Given the description of an element on the screen output the (x, y) to click on. 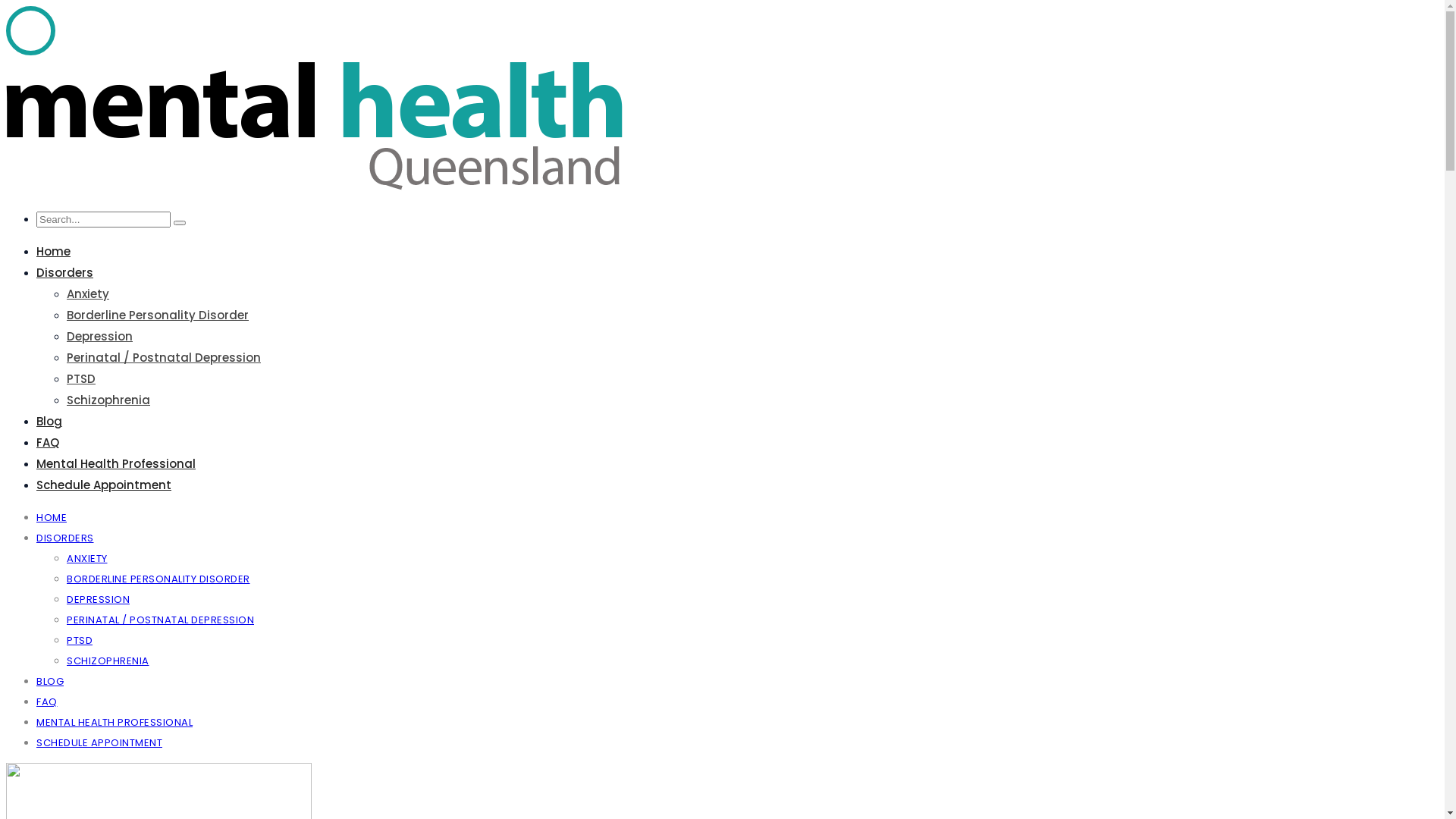
MENTAL HEALTH PROFESSIONAL Element type: text (114, 722)
Anxiety Element type: text (87, 293)
Mental Health Professional Element type: text (115, 463)
ANXIETY Element type: text (86, 558)
Schizophrenia Element type: text (108, 399)
PTSD Element type: text (80, 378)
PERINATAL / POSTNATAL DEPRESSION Element type: text (160, 619)
Disorders Element type: text (64, 272)
HOME Element type: text (51, 517)
Schedule Appointment Element type: text (103, 484)
Depression Element type: text (99, 336)
BORDERLINE PERSONALITY DISORDER Element type: text (158, 578)
Home Element type: text (53, 251)
Perinatal / Postnatal Depression Element type: text (163, 357)
PTSD Element type: text (79, 640)
BLOG Element type: text (49, 681)
DEPRESSION Element type: text (97, 599)
Borderline Personality Disorder Element type: text (157, 315)
SCHEDULE APPOINTMENT Element type: text (99, 742)
Blog Element type: text (49, 421)
SCHIZOPHRENIA Element type: text (107, 660)
FAQ Element type: text (47, 442)
FAQ Element type: text (46, 701)
DISORDERS Element type: text (65, 537)
